Given the description of an element on the screen output the (x, y) to click on. 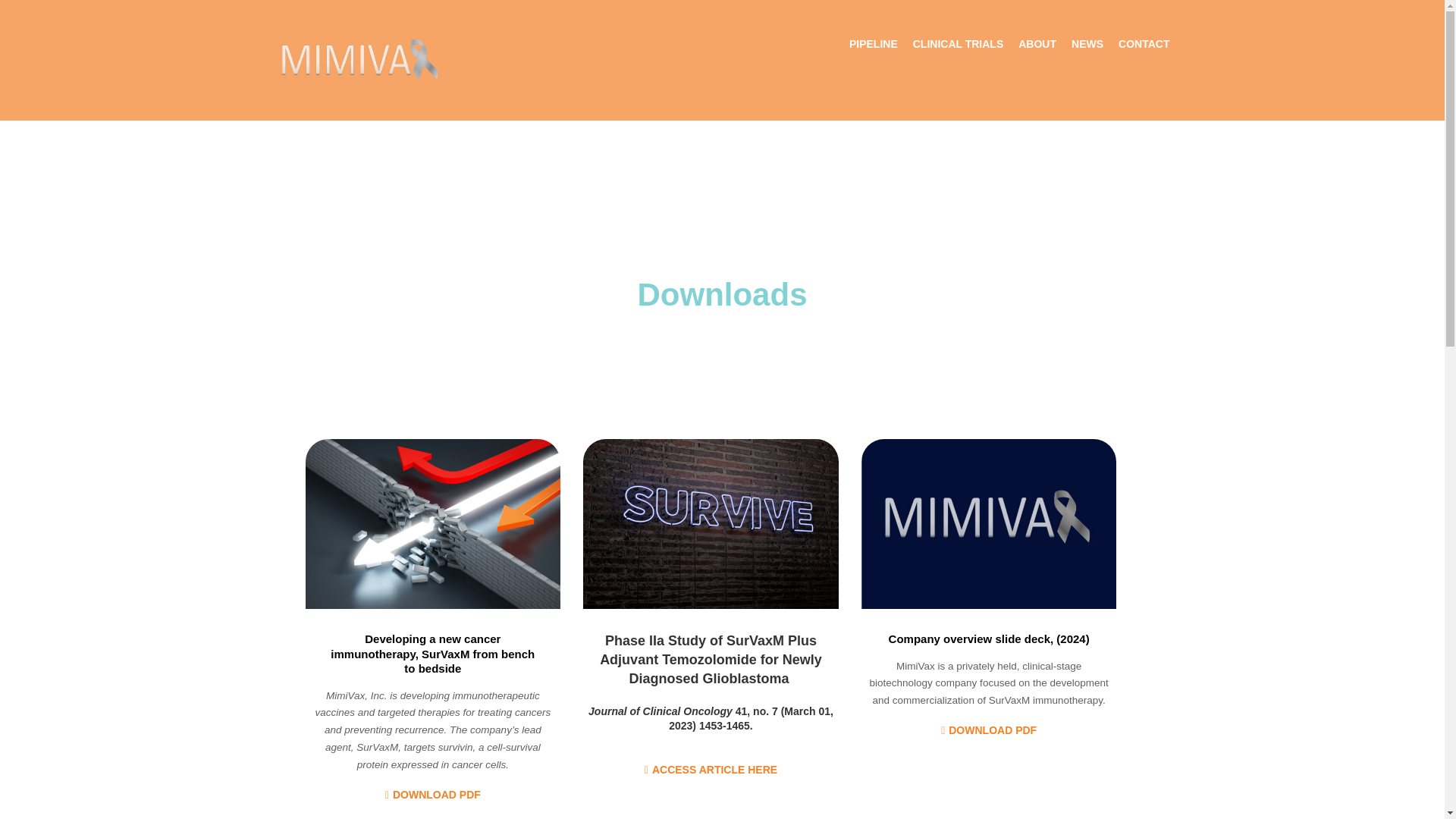
DOWNLOAD PDF (433, 794)
DOWNLOAD PDF (989, 730)
PIPELINE (873, 43)
CONTACT (1143, 43)
CLINICAL TRIALS (958, 43)
ABOUT (1037, 43)
ACCESS ARTICLE HERE (711, 769)
NEWS (1087, 43)
